Given the description of an element on the screen output the (x, y) to click on. 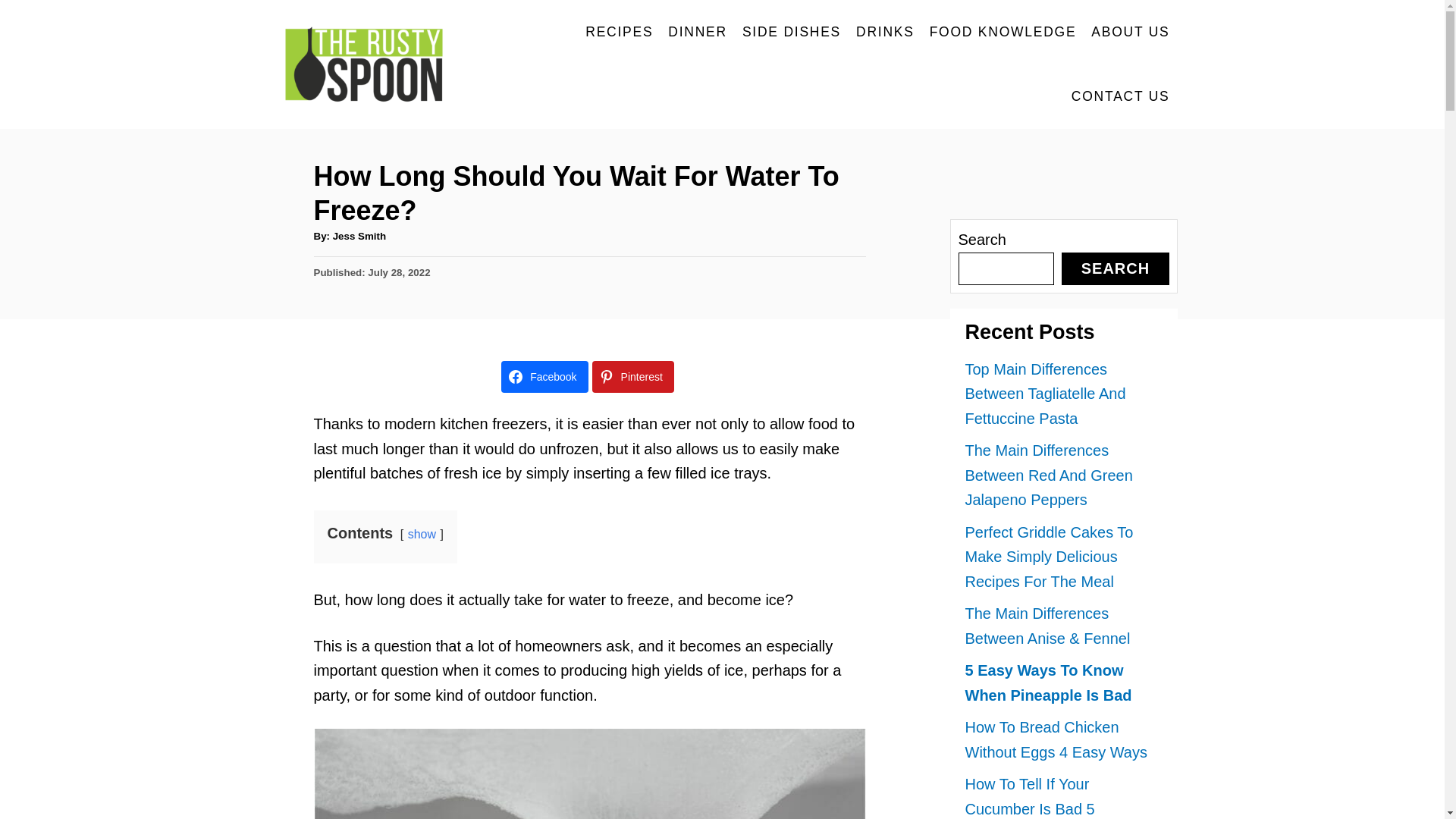
SIDE DISHES (791, 32)
DINNER (698, 32)
The Rusty Spoon (371, 64)
DRINKS (884, 32)
FOOD KNOWLEDGE (1002, 32)
Share on Pinterest (633, 377)
Share on Facebook (544, 377)
RECIPES (619, 32)
